Given the description of an element on the screen output the (x, y) to click on. 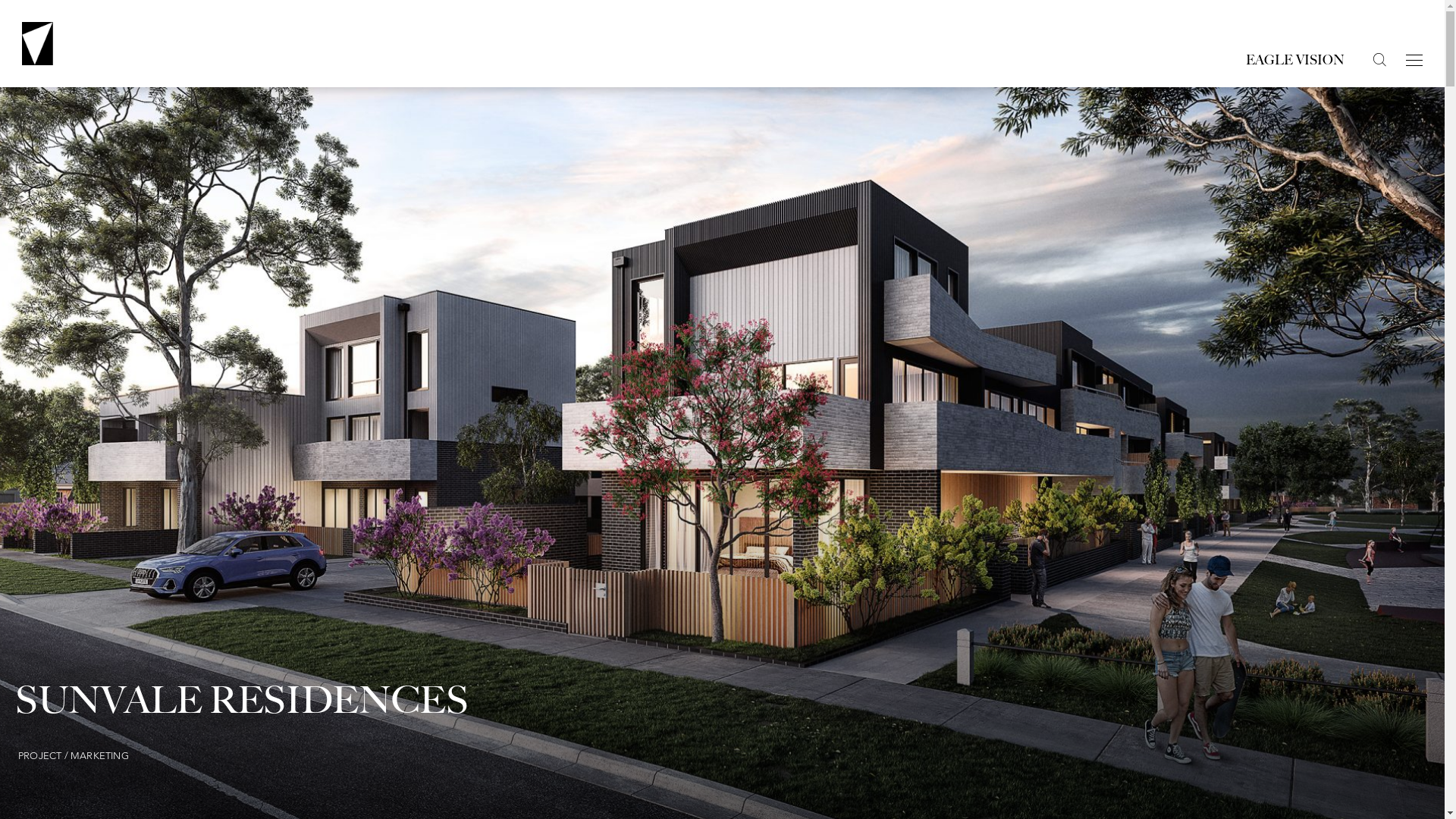
EAGLE VISION Element type: text (1294, 59)
Submit Element type: text (911, 172)
